Given the description of an element on the screen output the (x, y) to click on. 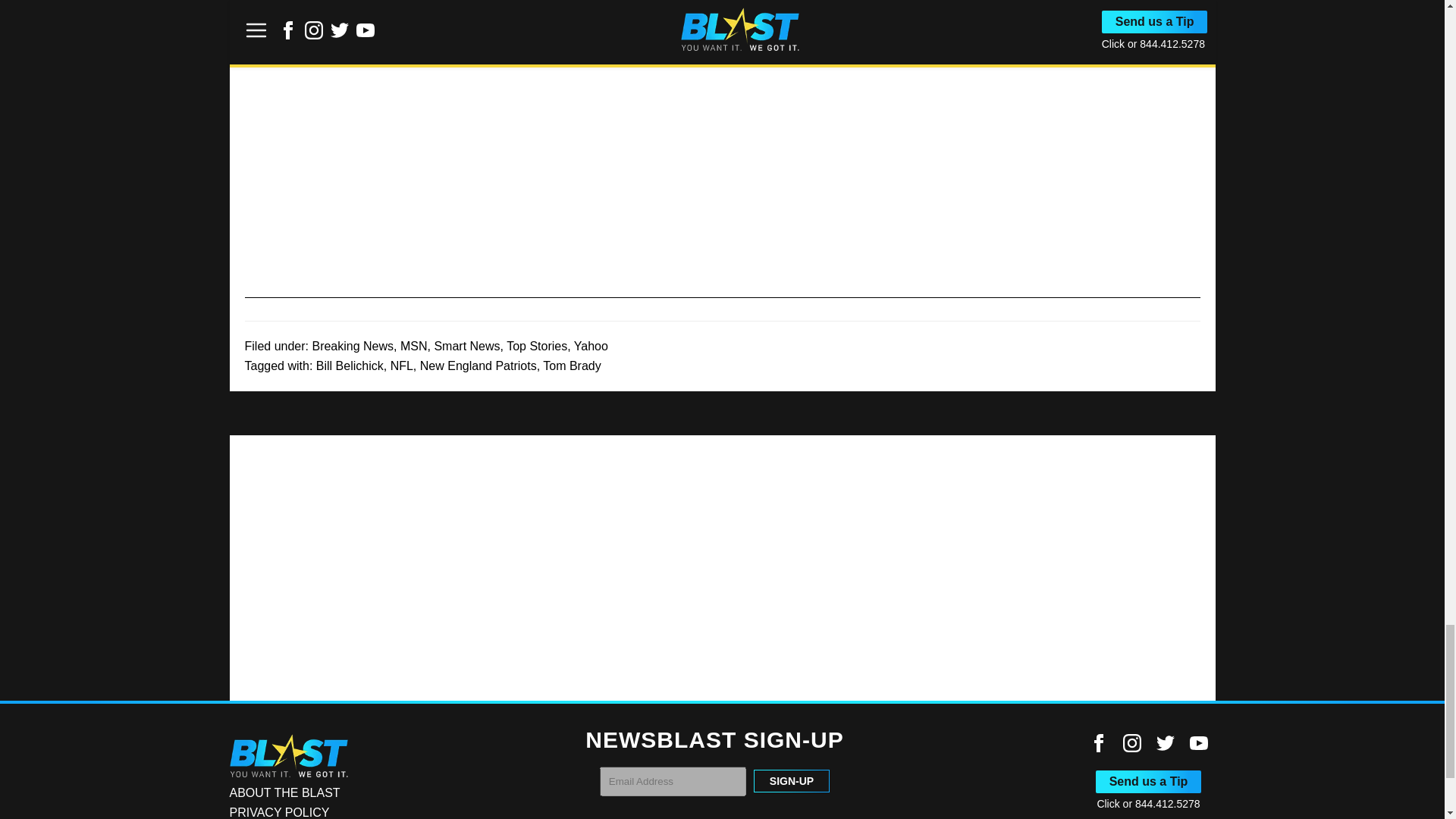
Bill Belichick (349, 365)
Breaking News (352, 345)
Link to Youtube (1198, 742)
Yahoo (590, 345)
SIGN-UP (791, 780)
ABOUT THE BLAST (283, 792)
Top Stories (536, 345)
Link to Facebook (1097, 742)
Link to Twitter (1164, 742)
NFL (401, 365)
Tom Brady (571, 365)
Link to Instagram (1131, 742)
PRIVACY POLICY (278, 812)
MSN (414, 345)
New England Patriots (478, 365)
